Given the description of an element on the screen output the (x, y) to click on. 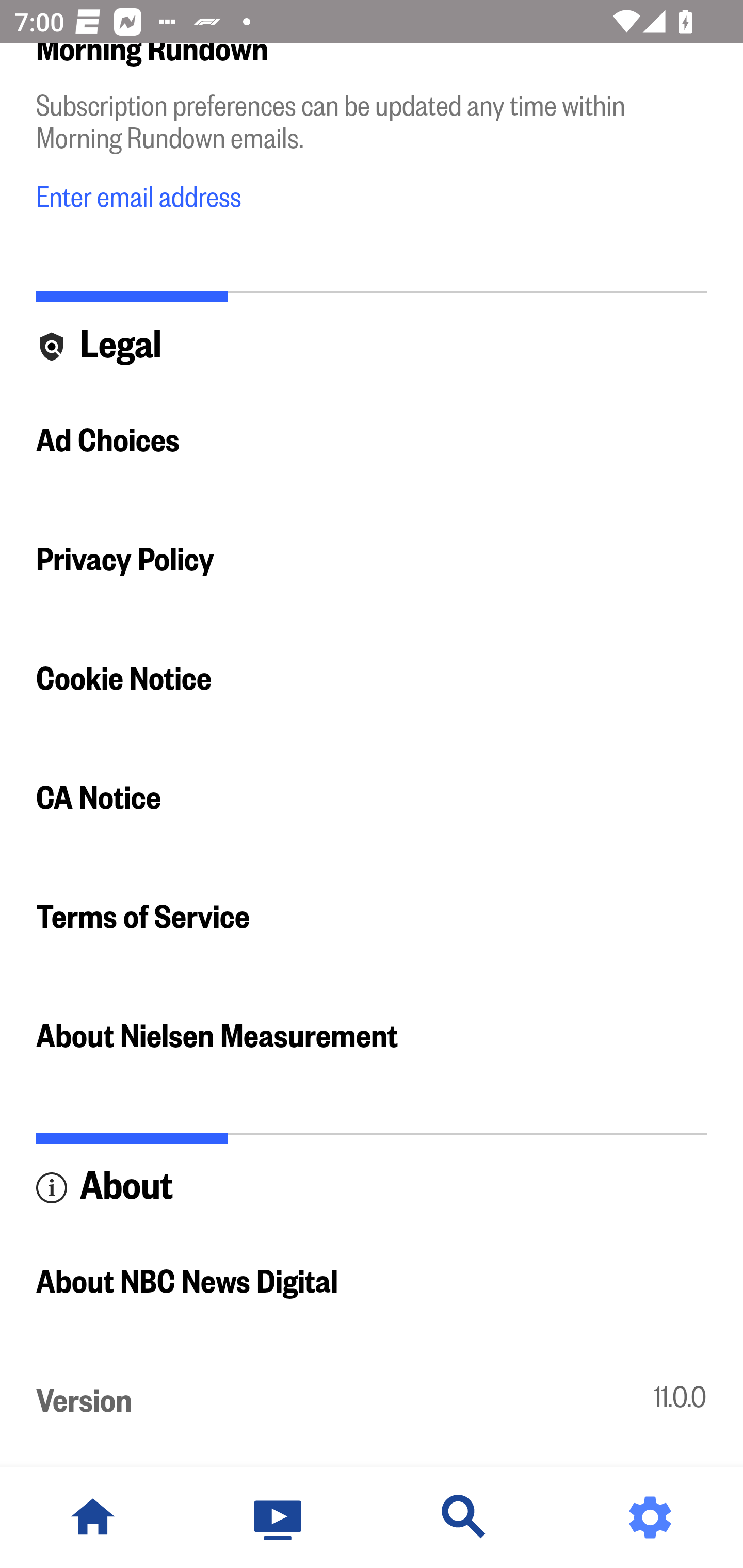
Ad Choices (371, 440)
Privacy Policy (371, 559)
Cookie Notice (371, 678)
CA Notice (371, 797)
Terms of Service (371, 916)
About Nielsen Measurement (371, 1036)
About NBC News Digital (371, 1282)
Version 11.0.0 (371, 1401)
NBC News Home (92, 1517)
Watch (278, 1517)
Discover (464, 1517)
